Given the description of an element on the screen output the (x, y) to click on. 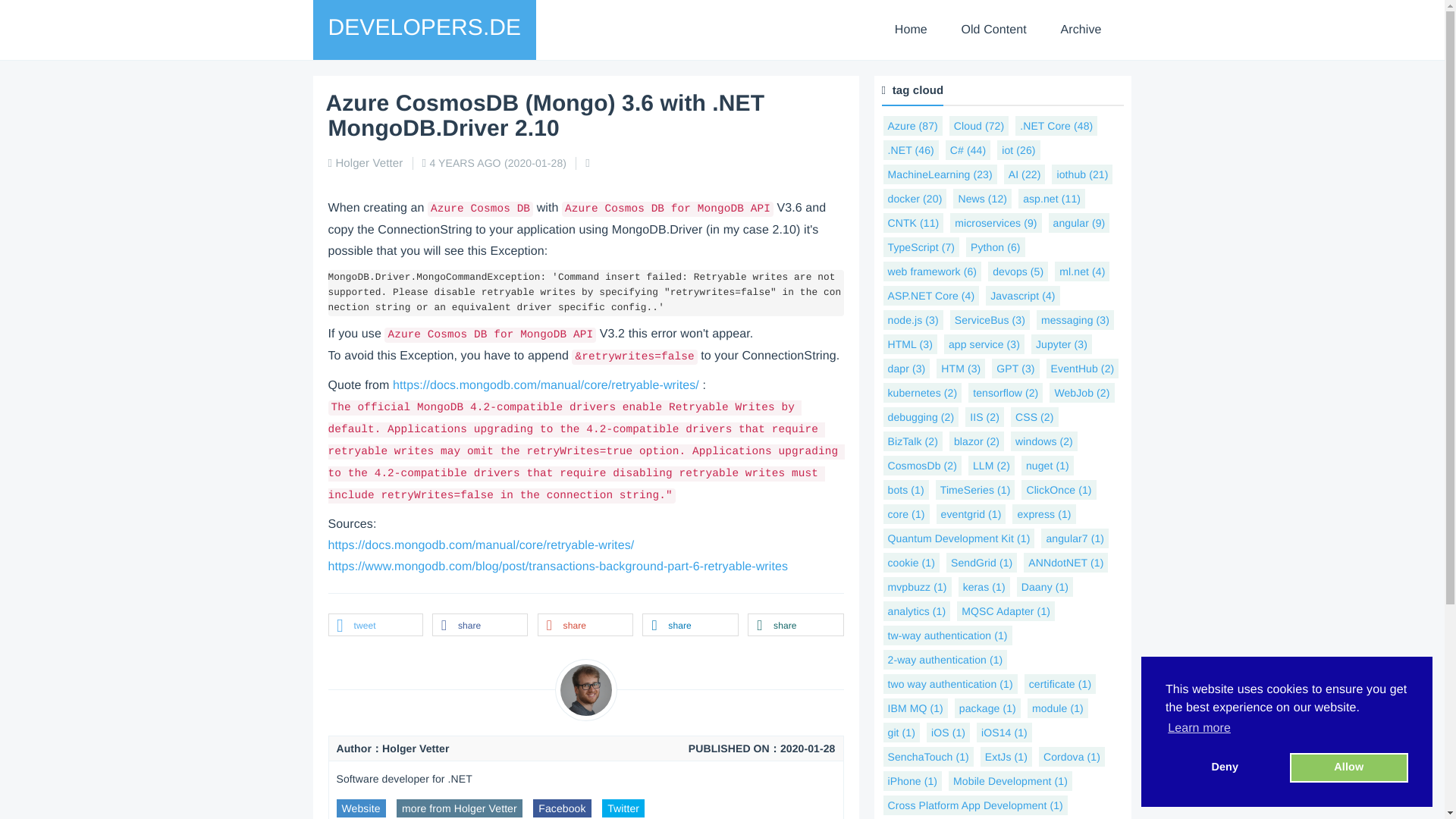
Share on Facebook (479, 625)
Archive (1080, 29)
DEVELOPERS.DE (424, 27)
more from Holger Vetter (459, 808)
Share on LinkedIn (689, 625)
share (795, 625)
Home (910, 29)
Allow (1348, 767)
share (584, 625)
Share on XING (795, 625)
Learn more (1199, 728)
Deny (1225, 767)
share (479, 625)
tweet (375, 625)
Share on Twitter (375, 625)
